Given the description of an element on the screen output the (x, y) to click on. 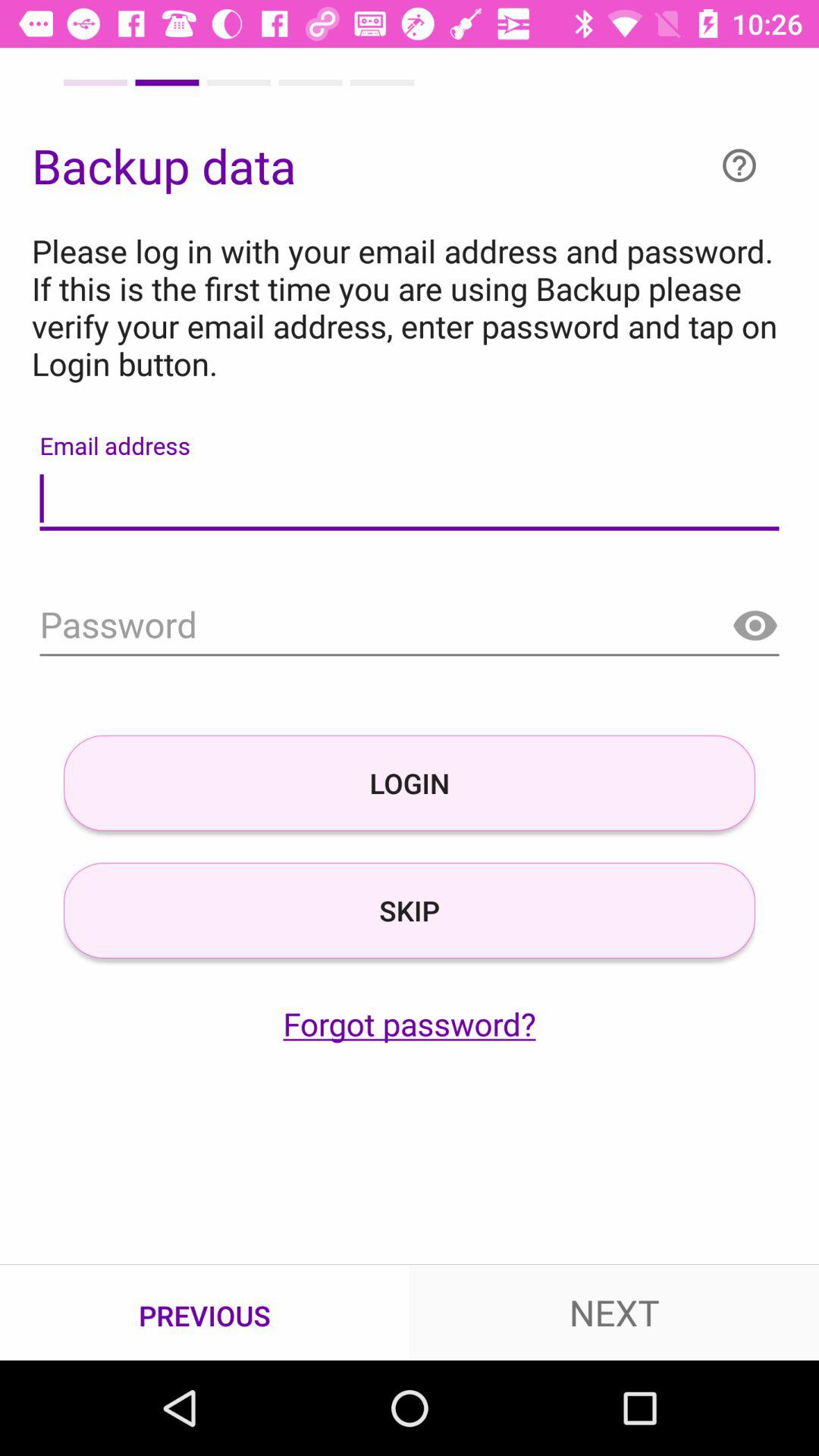
button to start inputting password (409, 626)
